Given the description of an element on the screen output the (x, y) to click on. 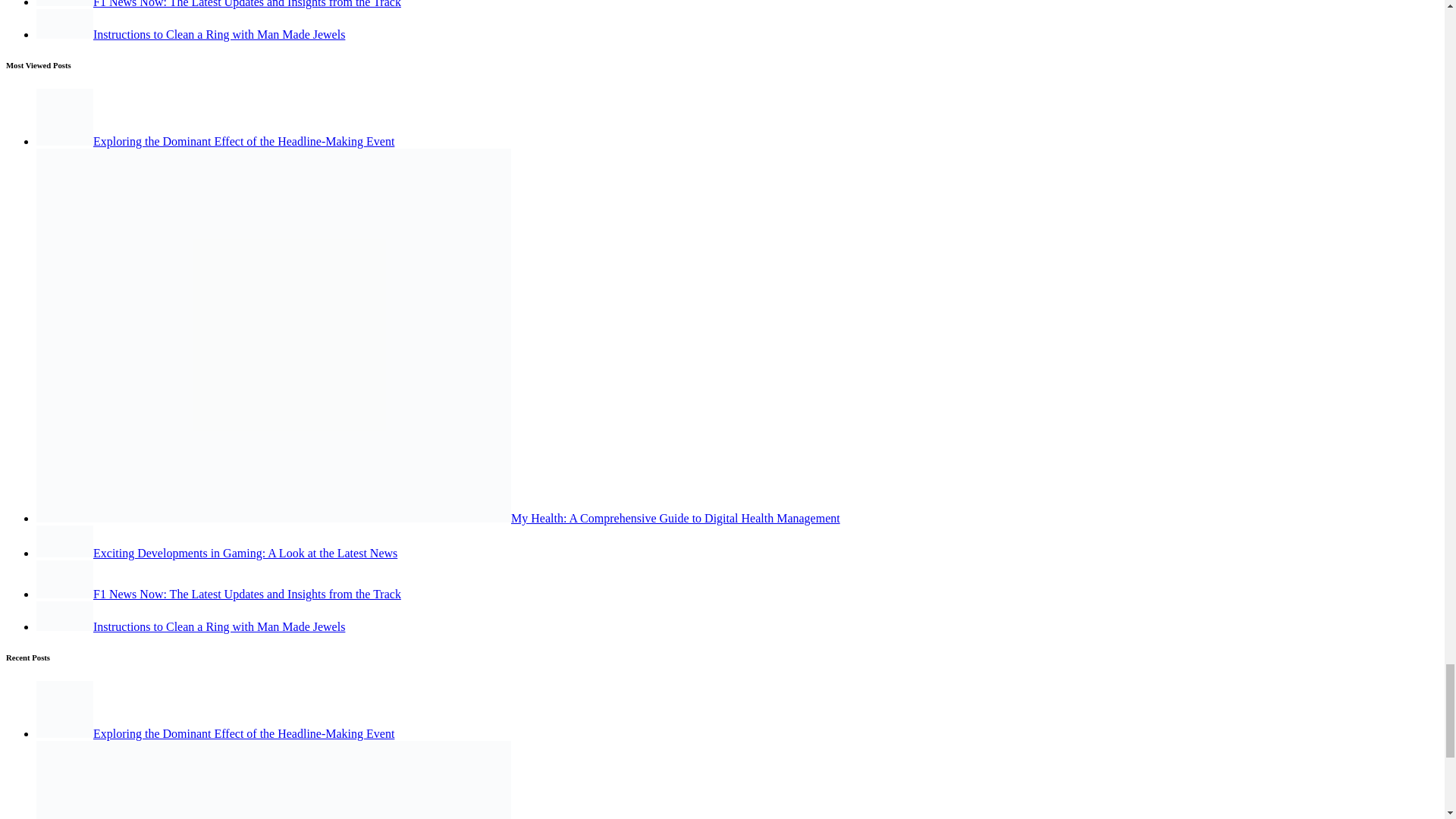
F1 News Now (64, 579)
F1 News Now (64, 2)
